Given the description of an element on the screen output the (x, y) to click on. 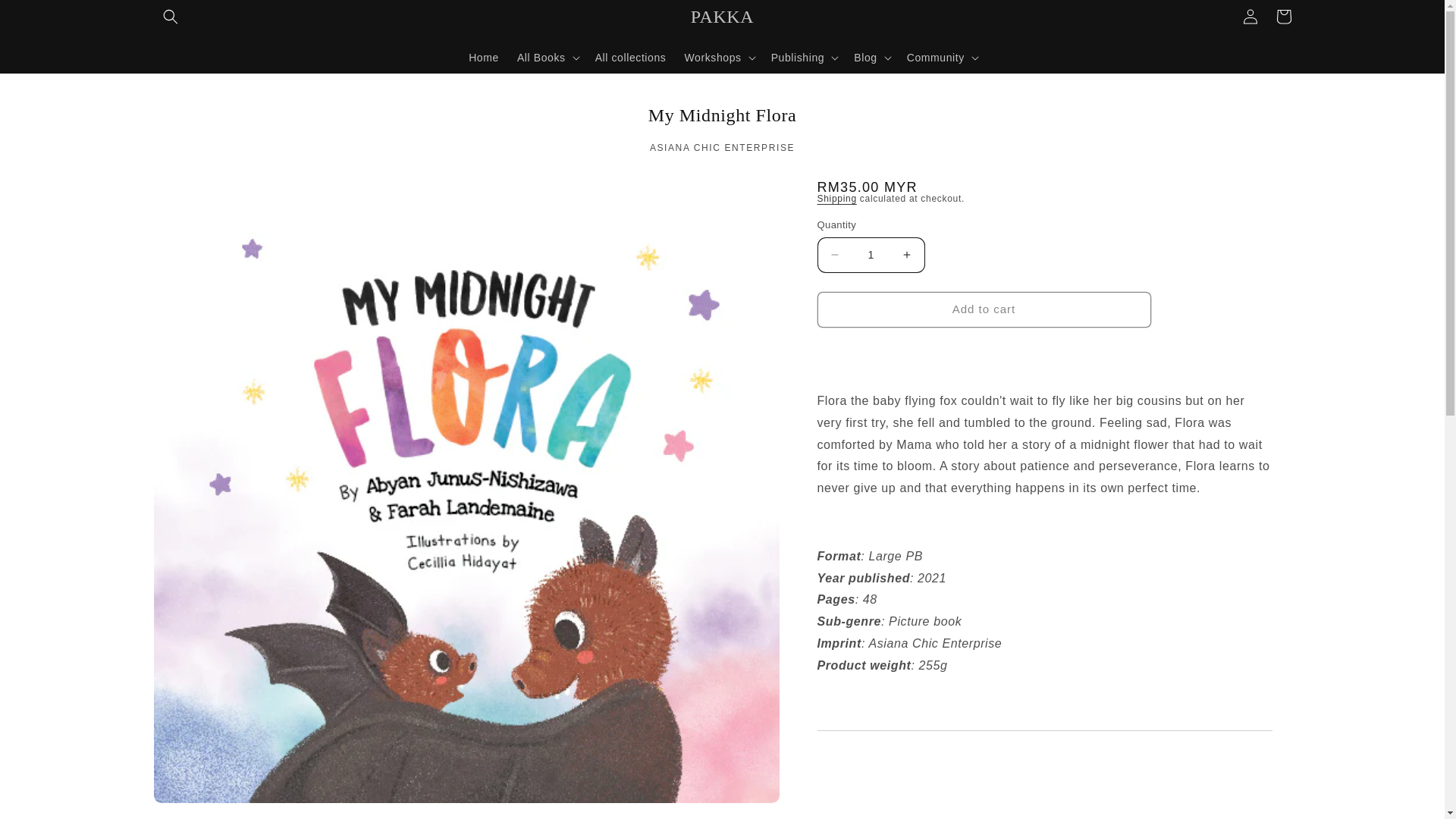
1 (870, 254)
Skip to content (45, 17)
